Given the description of an element on the screen output the (x, y) to click on. 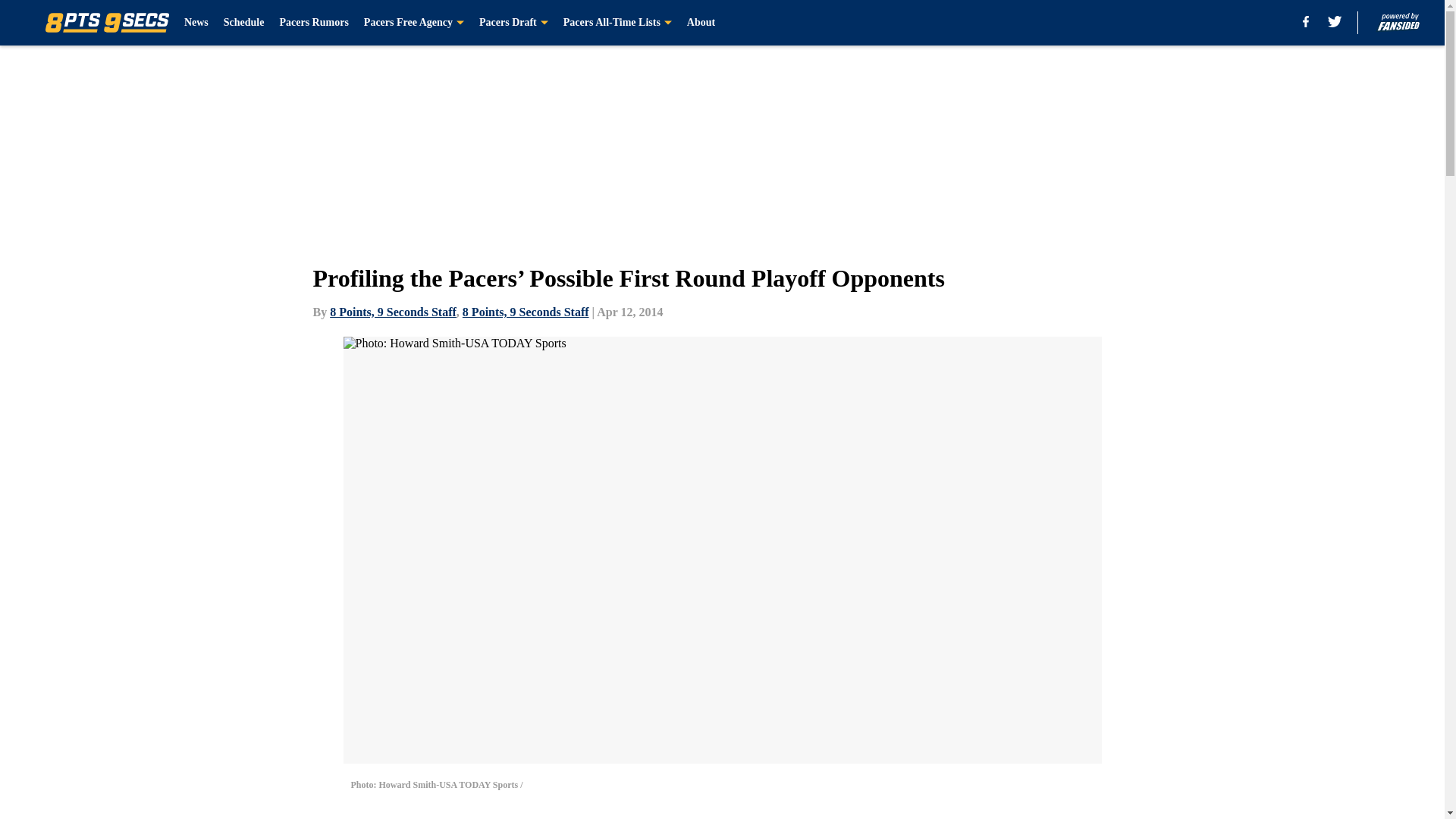
News (196, 22)
Pacers Rumors (313, 22)
About (700, 22)
8 Points, 9 Seconds Staff (526, 311)
Schedule (244, 22)
8 Points, 9 Seconds Staff (393, 311)
